Given the description of an element on the screen output the (x, y) to click on. 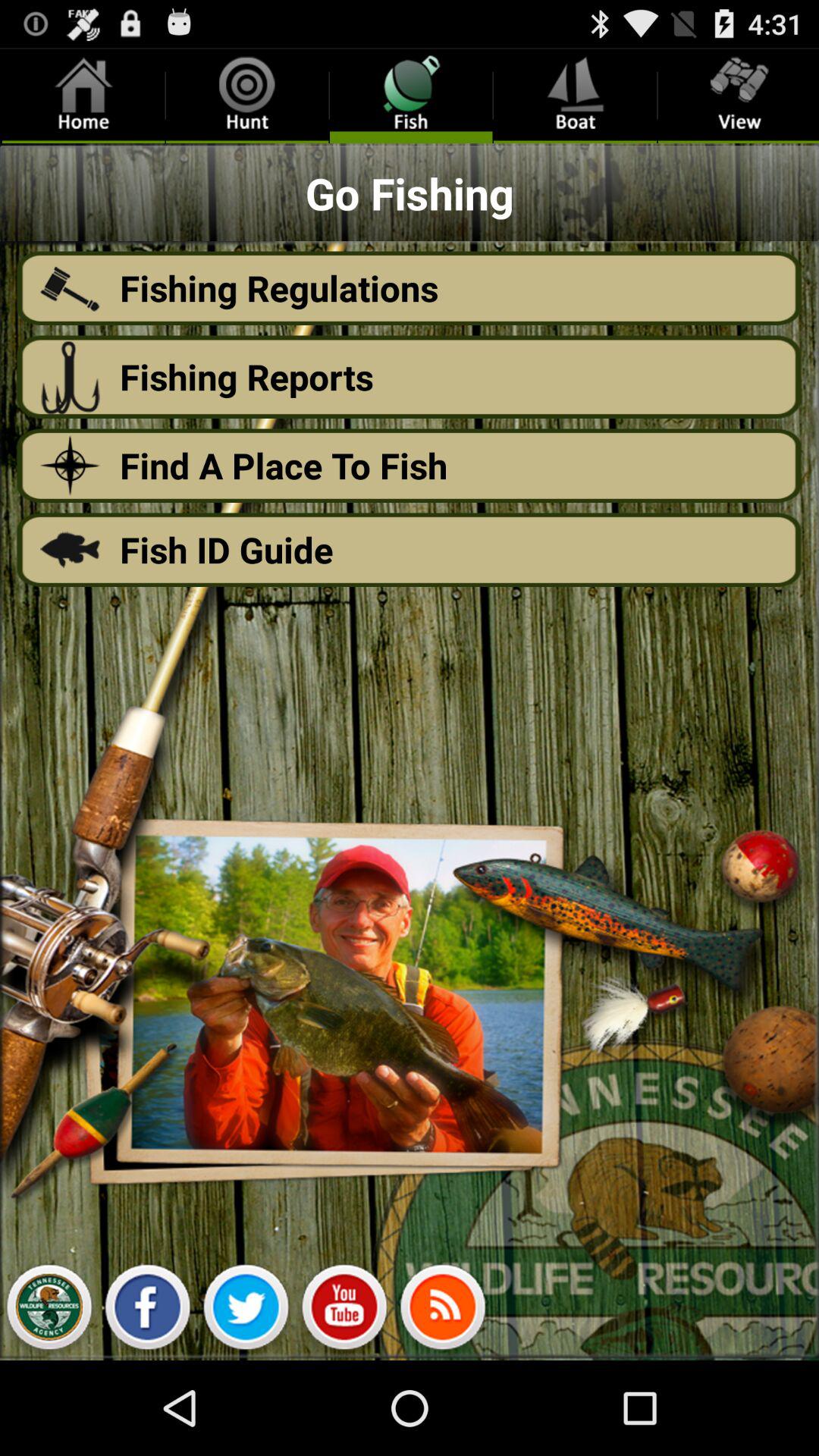
you tube option (344, 1311)
